Given the description of an element on the screen output the (x, y) to click on. 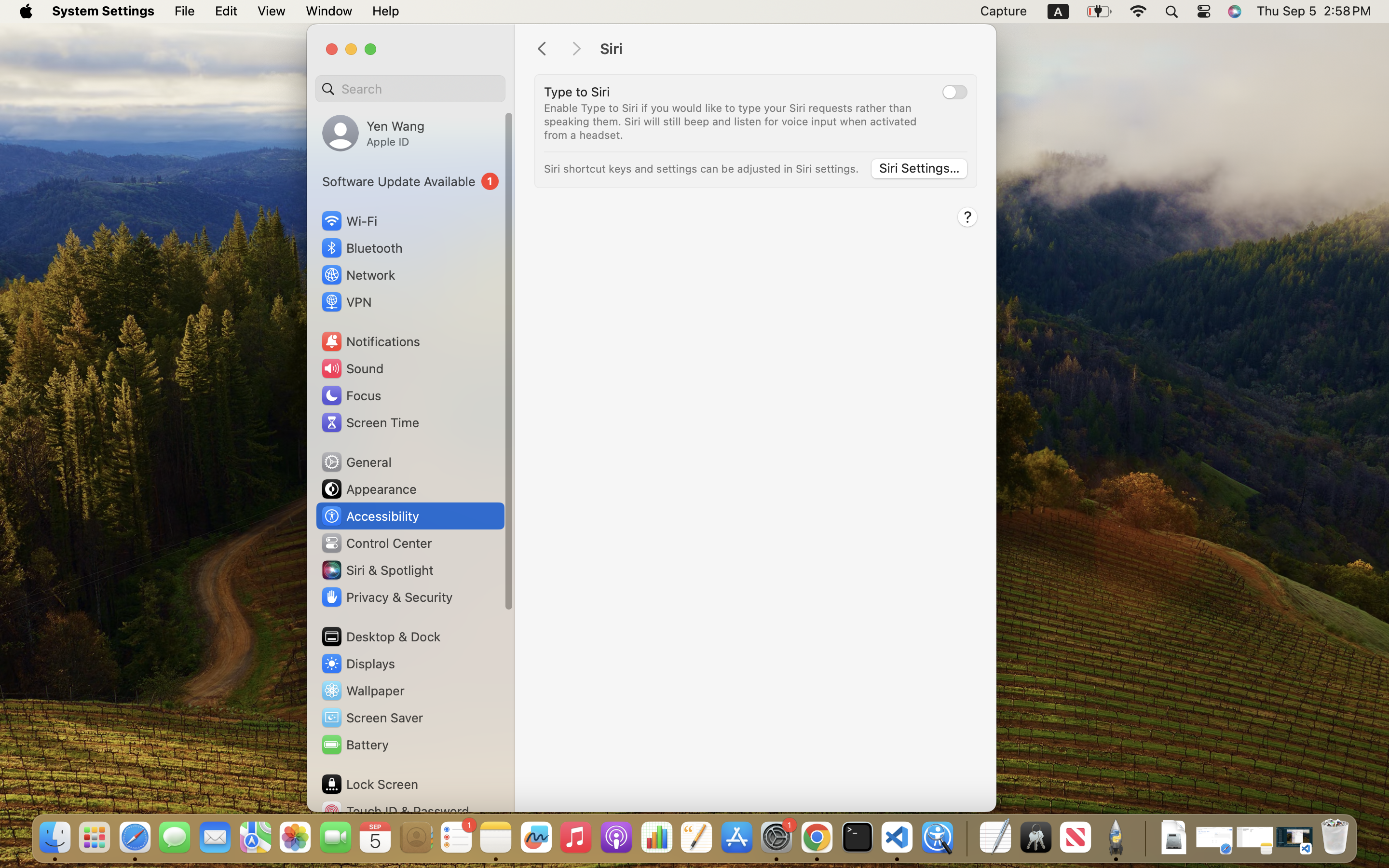
Touch ID & Password Element type: AXStaticText (394, 810)
Siri Element type: AXStaticText (788, 49)
Appearance Element type: AXStaticText (368, 488)
Wallpaper Element type: AXStaticText (362, 690)
Lock Screen Element type: AXStaticText (369, 783)
